Given the description of an element on the screen output the (x, y) to click on. 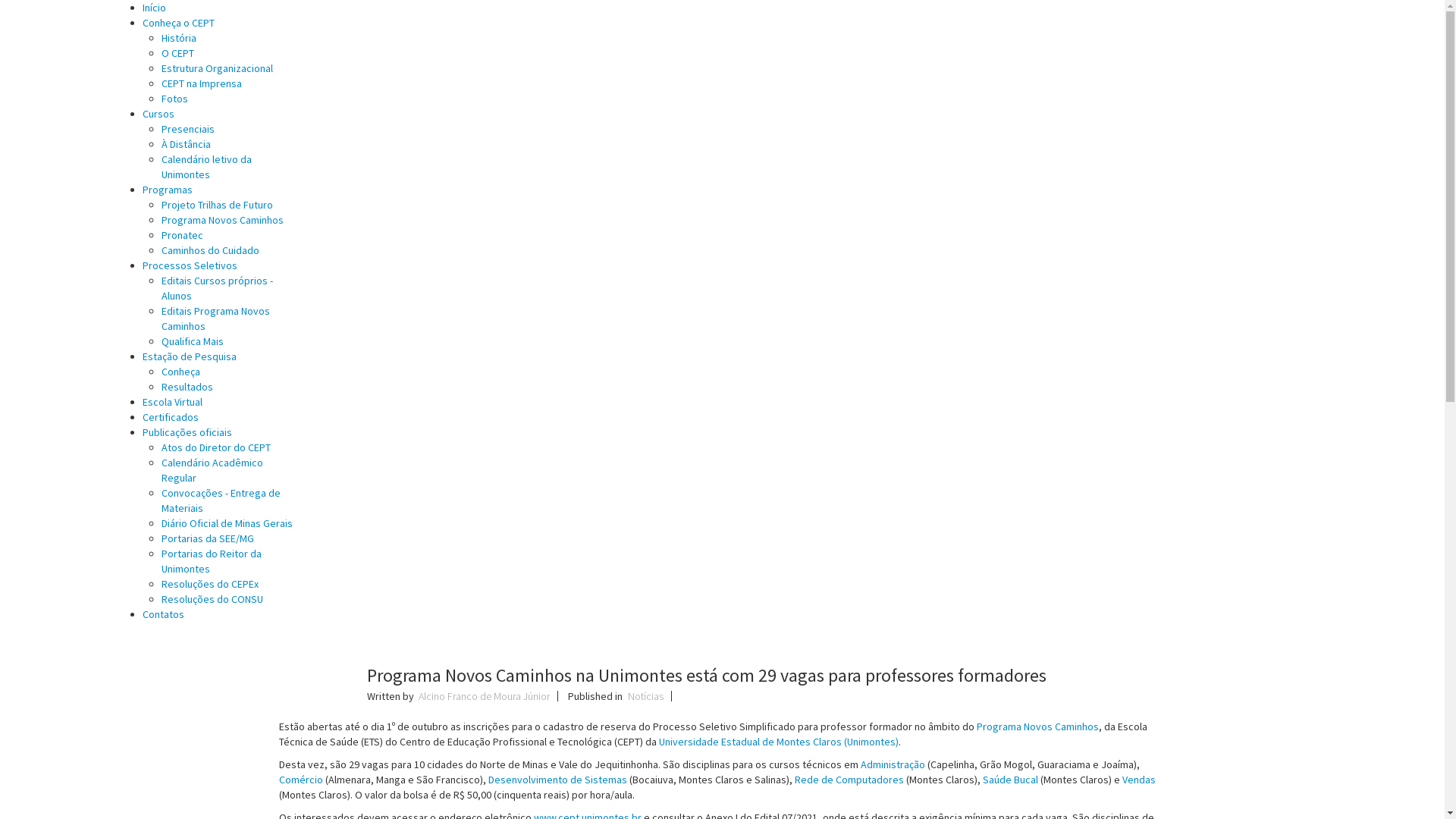
Caminhos do Cuidado Element type: text (210, 250)
Escola Virtual Element type: text (172, 401)
Atos do Diretor do CEPT Element type: text (215, 447)
Pronatec Element type: text (182, 234)
Desenvolvimento de Sistemas Element type: text (557, 779)
Estrutura Organizacional Element type: text (217, 68)
Cursos Element type: text (158, 113)
Certificados Element type: text (170, 416)
Resultados Element type: text (187, 386)
Fotos Element type: text (174, 98)
Vendas Element type: text (1138, 779)
Programa Novos Caminhos Element type: text (222, 219)
Contatos Element type: text (163, 614)
Programas Element type: text (167, 189)
Portarias do Reitor da Unimontes Element type: text (211, 560)
Editais Programa Novos Caminhos Element type: text (215, 318)
Qualifica Mais Element type: text (192, 341)
Portarias da SEE/MG Element type: text (207, 538)
Presenciais Element type: text (187, 128)
Universidade Estadual de Montes Claros (Unimontes) Element type: text (777, 741)
Projeto Trilhas de Futuro Element type: text (217, 204)
O CEPT Element type: text (177, 52)
Rede de Computadores Element type: text (848, 779)
CEPT na Imprensa Element type: text (201, 83)
Processos Seletivos Element type: text (189, 265)
Programa Novos Caminhos Element type: text (1037, 726)
